Given the description of an element on the screen output the (x, y) to click on. 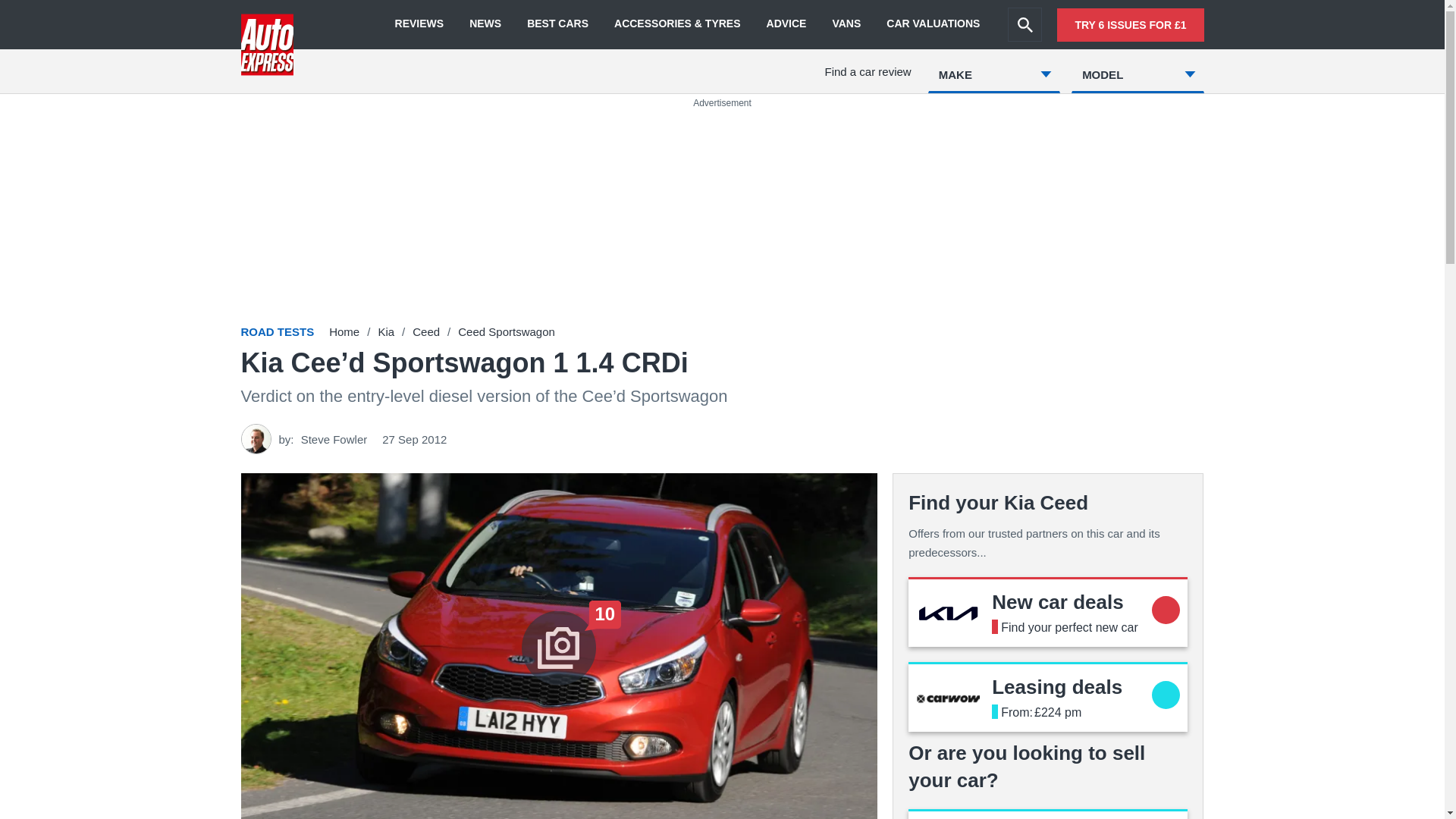
ADVICE (786, 24)
Search (1024, 24)
VANS (845, 24)
BEST CARS (557, 24)
Search (1024, 24)
Home (344, 331)
Ceed Sportswagon (506, 331)
REVIEWS (419, 24)
Kia (1056, 601)
CAR VALUATIONS (385, 331)
NEWS (932, 24)
Ceed (1056, 686)
10 (485, 24)
